Given the description of an element on the screen output the (x, y) to click on. 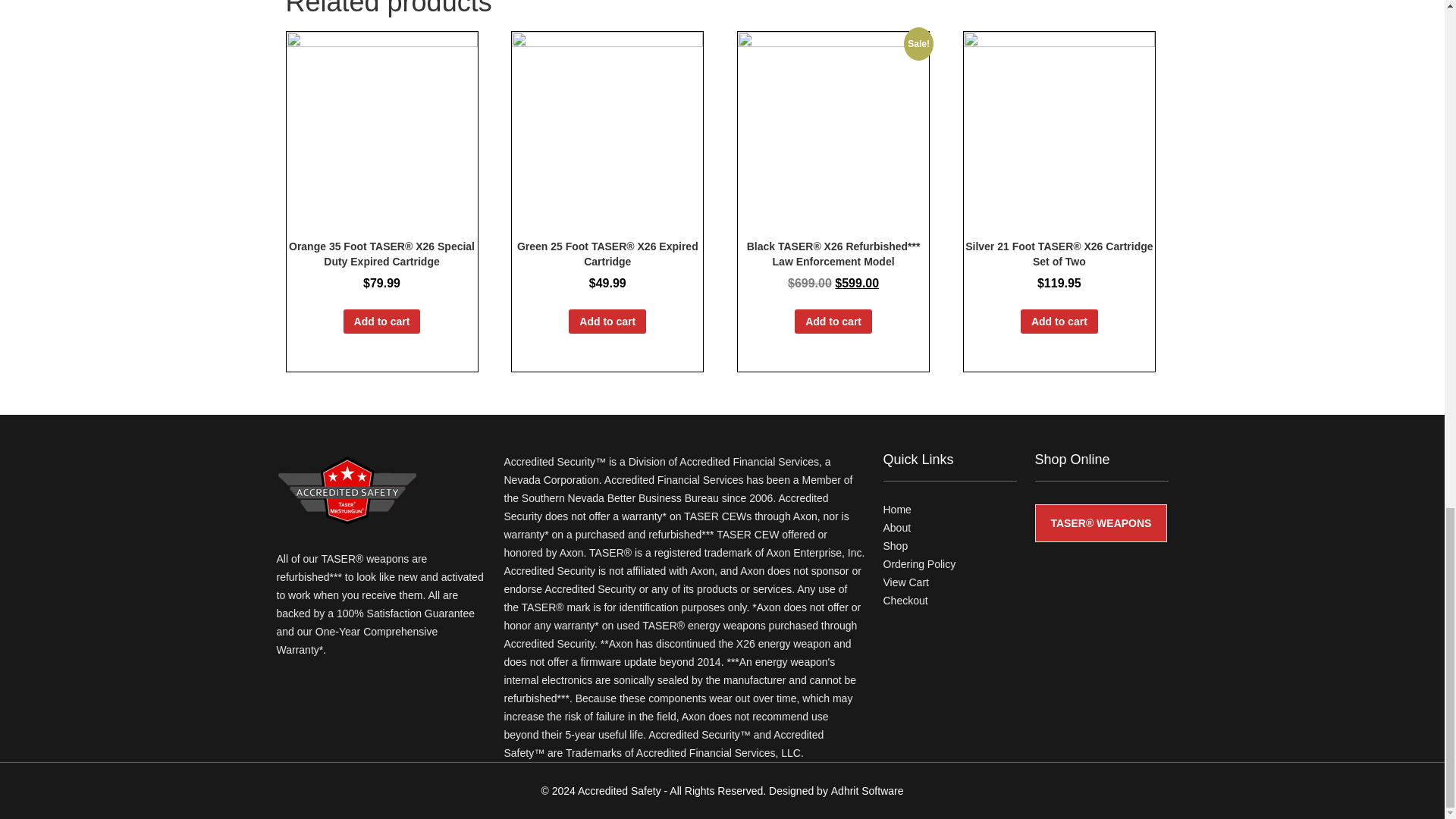
Add to cart (607, 320)
Add to cart (381, 320)
